Given the description of an element on the screen output the (x, y) to click on. 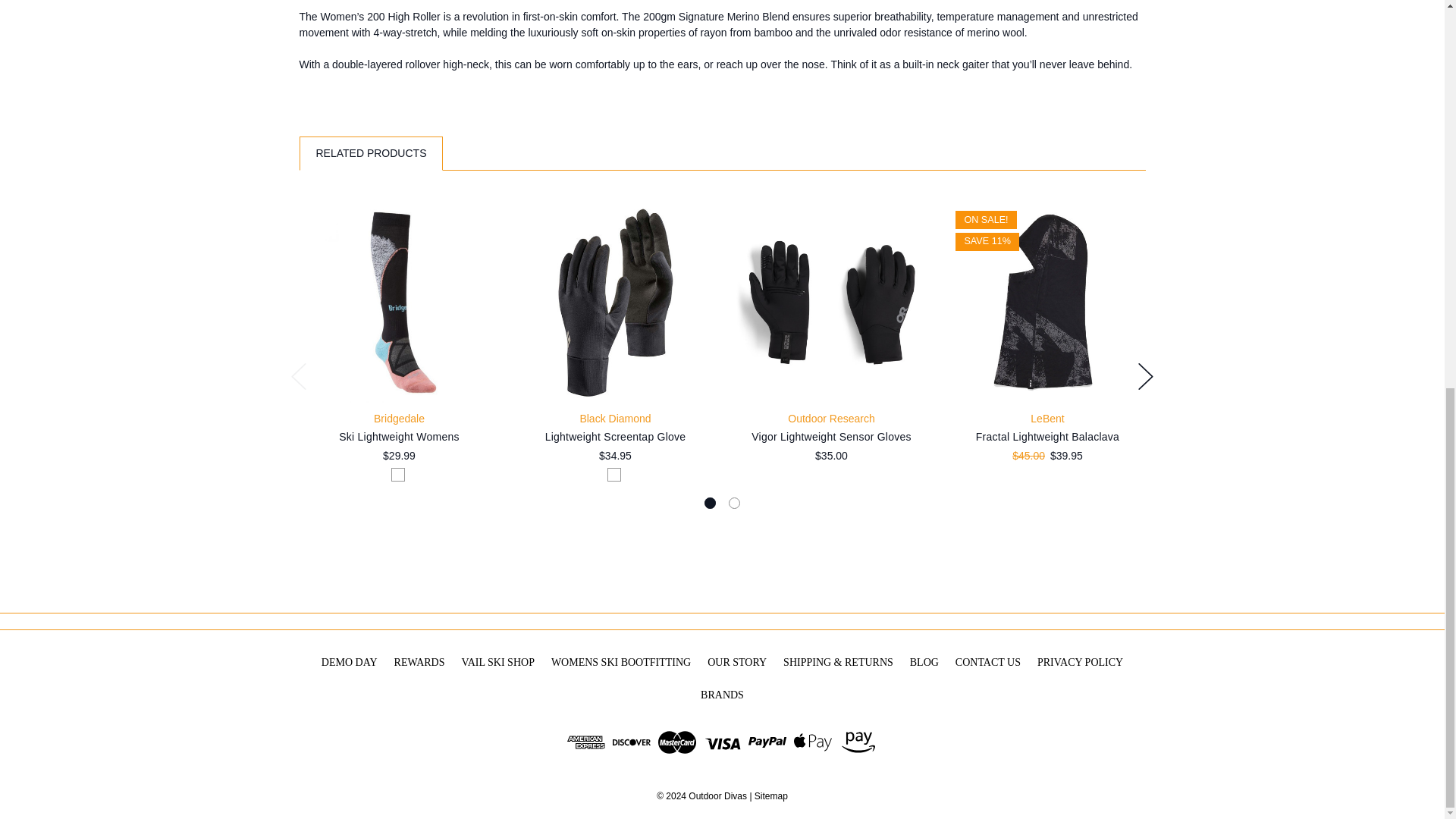
Women's Bridgedale  Ski Lightweight Womens (398, 302)
Women's LeBent  Fractal Lightweight Balaclava (1047, 302)
Women's Vigor Lightweight Sensor Gloves by Outdoor Research (830, 302)
Women's Black Diamond  Lightweight Screentap Glove (615, 302)
BLKCORAL (398, 474)
BLACK (614, 474)
